Given the description of an element on the screen output the (x, y) to click on. 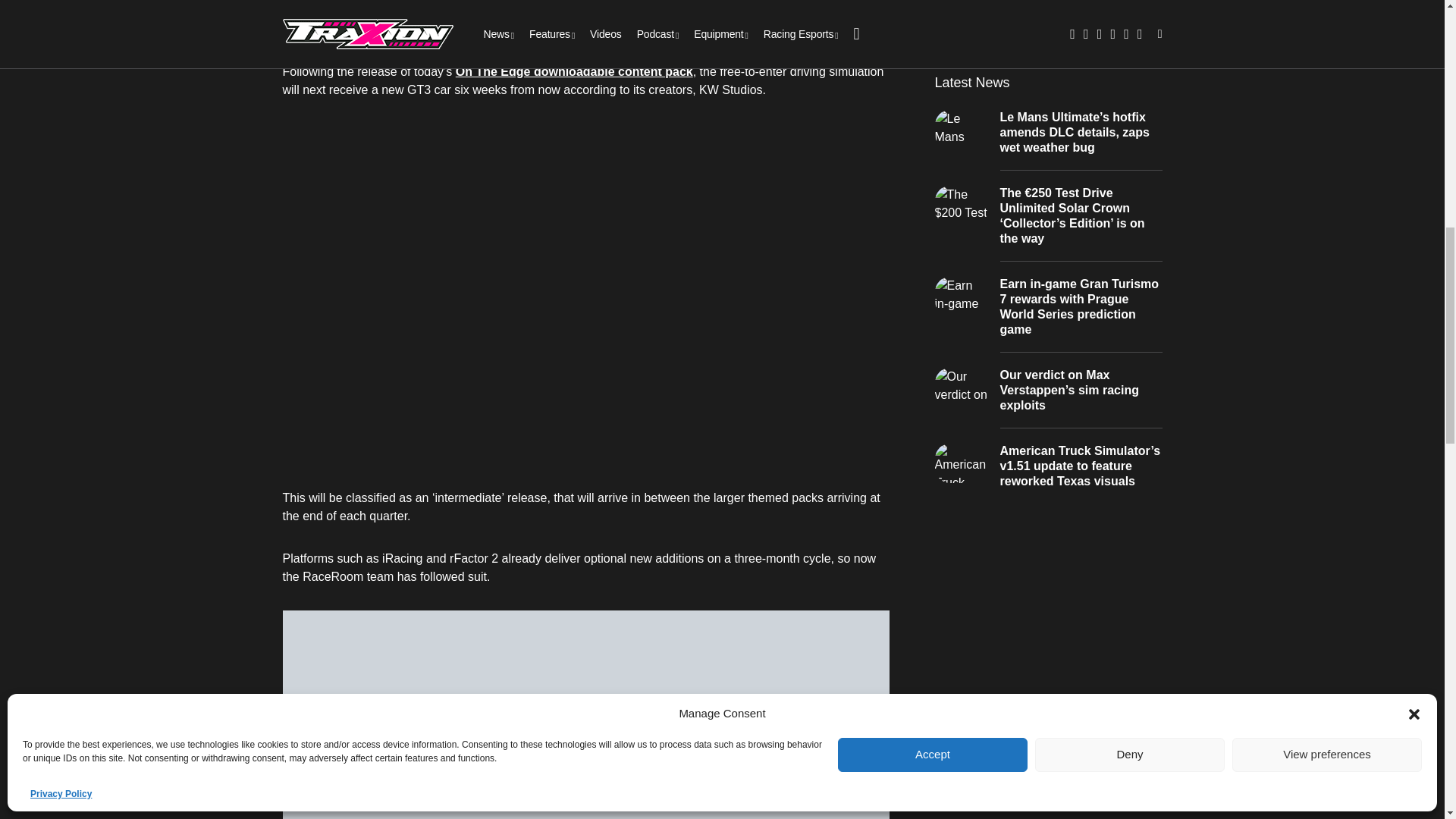
View preferences (1326, 344)
Deny (1129, 344)
Accept (932, 344)
Privacy Policy (60, 383)
